Given the description of an element on the screen output the (x, y) to click on. 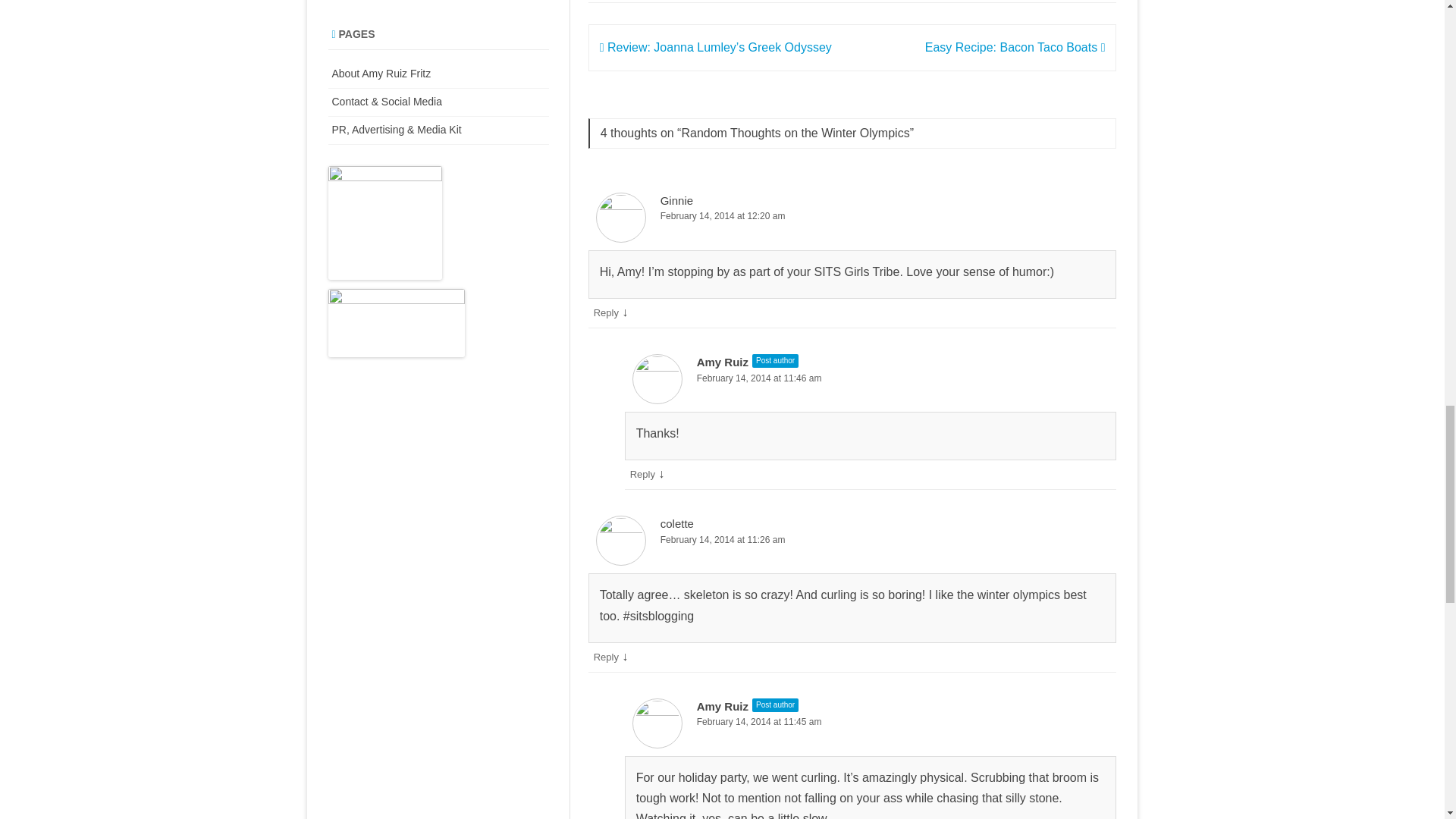
February 14, 2014 at 12:20 am (852, 216)
Easy Recipe: Bacon Taco Boats (1014, 47)
Amy Ruiz (722, 361)
Reply (606, 312)
February 14, 2014 at 11:46 am (870, 378)
Ginnie (677, 200)
